Given the description of an element on the screen output the (x, y) to click on. 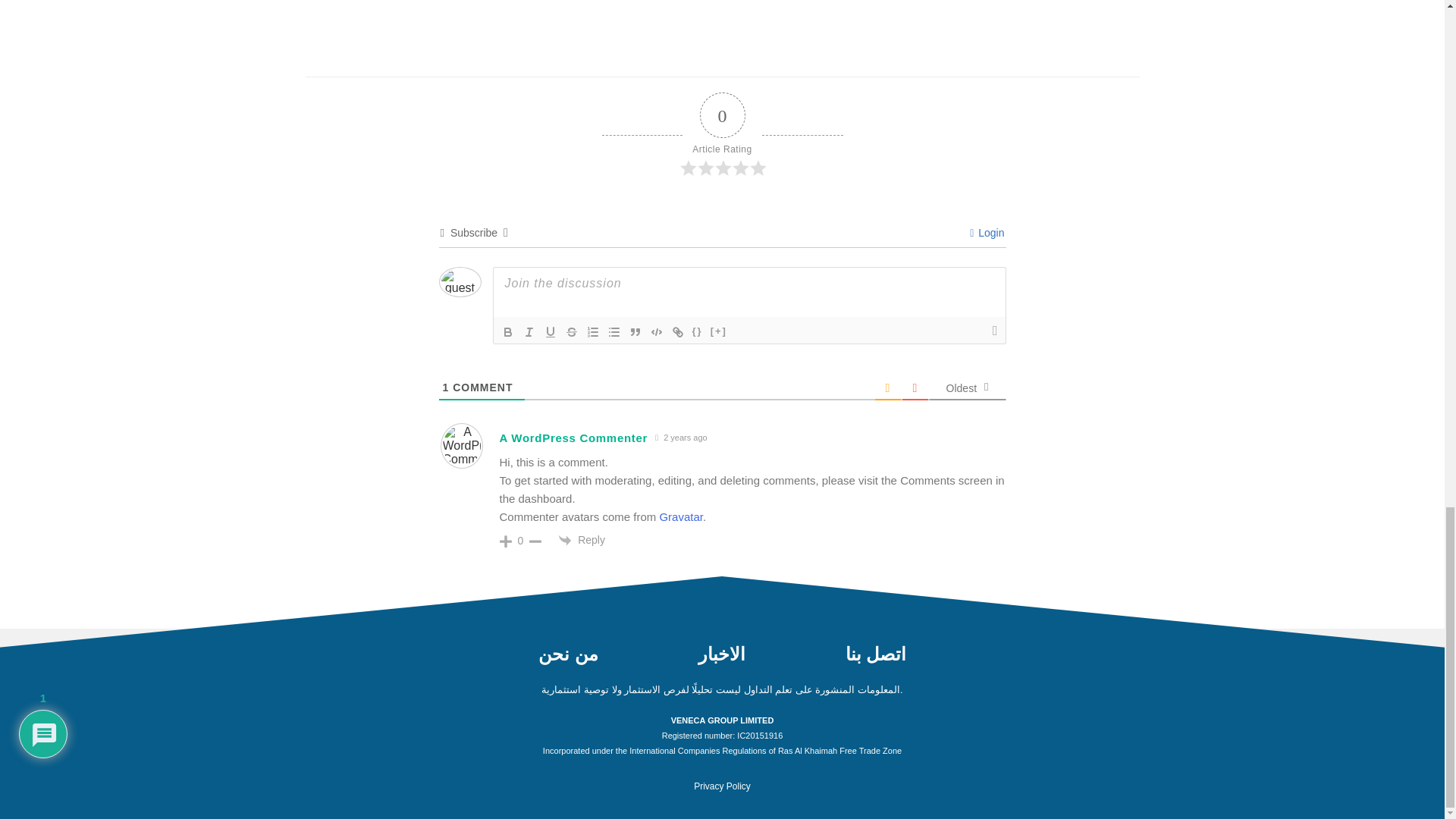
Login (986, 232)
Bold (507, 331)
Link (677, 331)
Ordered List (593, 331)
Code Block (656, 331)
Unordered List (614, 331)
ordered (593, 331)
Source Code (697, 331)
Underline (550, 331)
Blockquote (635, 331)
Strike (571, 331)
bullet (614, 331)
Spoiler (718, 331)
Italic (529, 331)
